Given the description of an element on the screen output the (x, y) to click on. 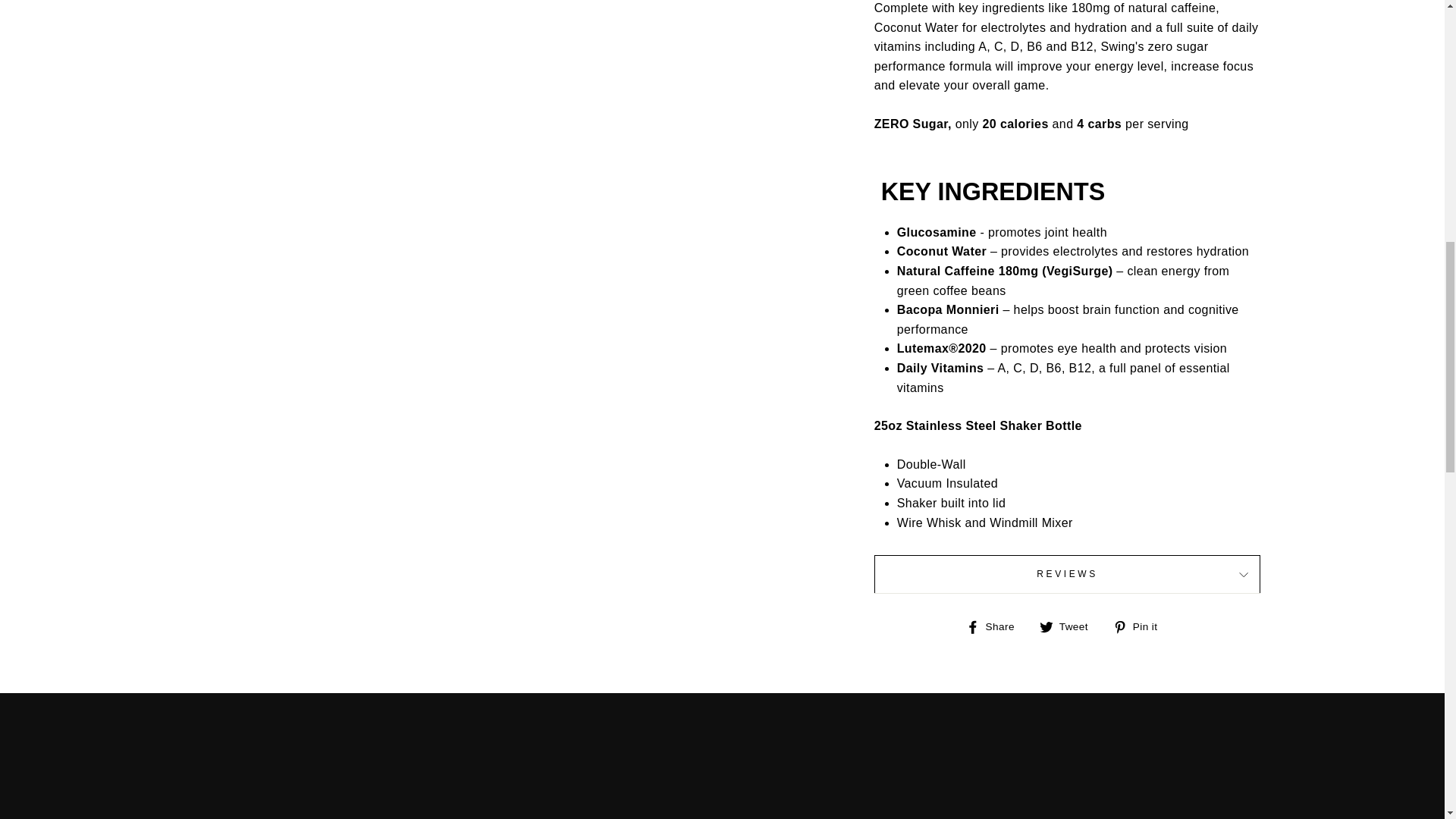
Share on Facebook (996, 626)
Pin on Pinterest (1141, 626)
Tweet on Twitter (1069, 626)
